Given the description of an element on the screen output the (x, y) to click on. 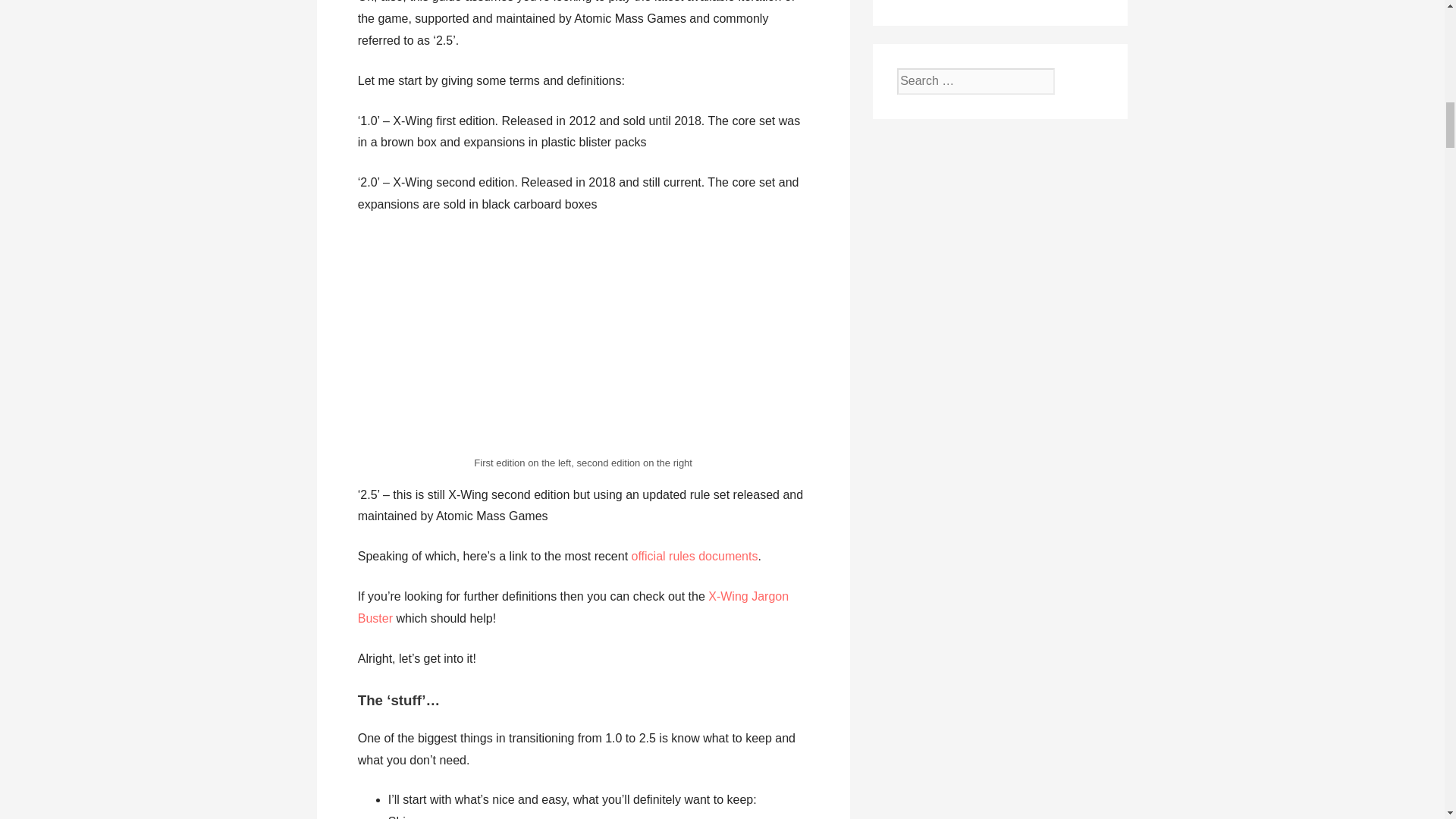
X-Wing Jargon Buster (573, 606)
official rules documents (694, 555)
